Given the description of an element on the screen output the (x, y) to click on. 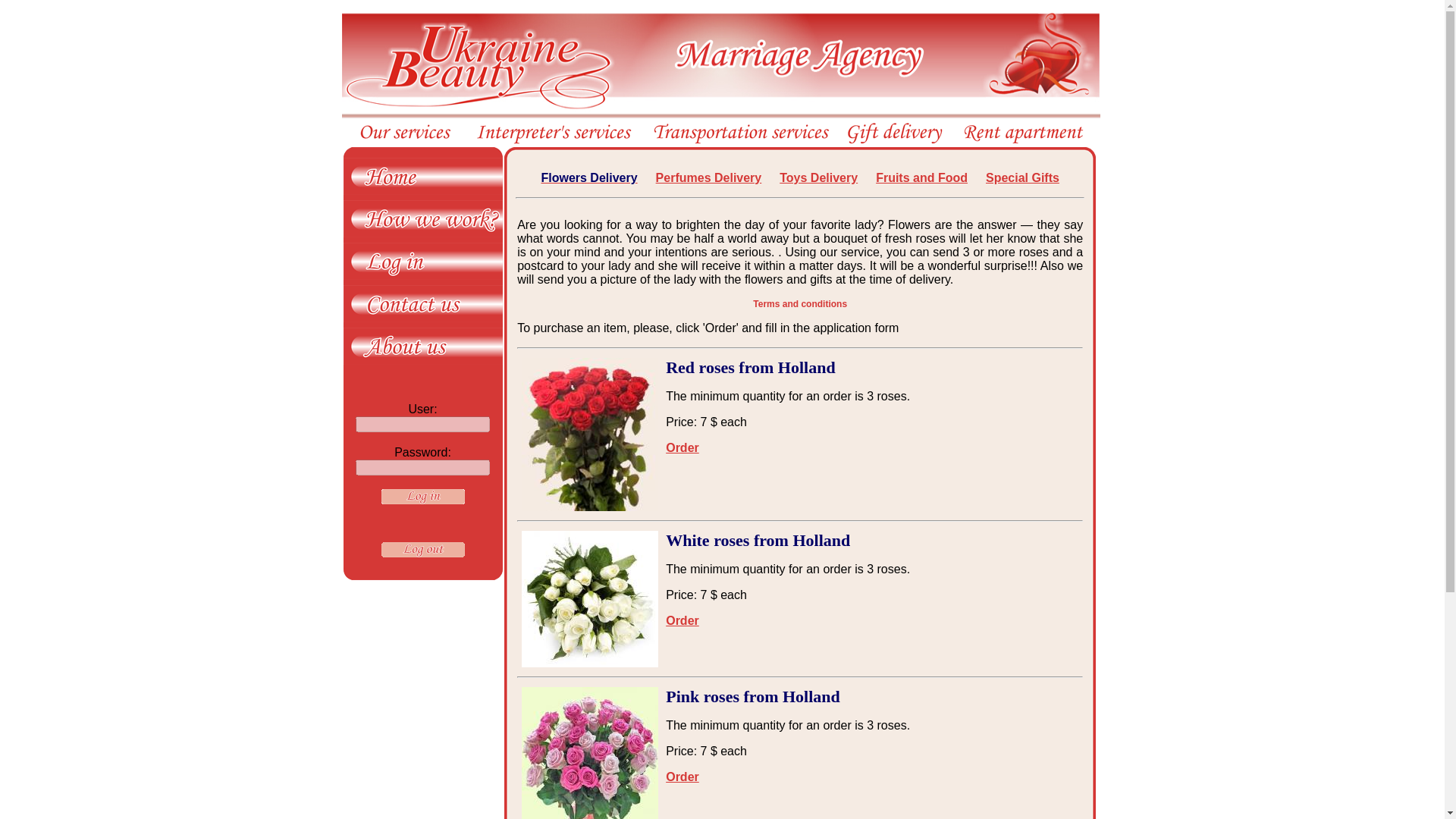
Fruits and Food (922, 177)
Flowers Delivery (588, 177)
Order (681, 447)
Order (681, 776)
Perfumes Delivery (708, 177)
Toys Delivery (817, 177)
Order (681, 620)
Special Gifts (1022, 177)
Terms and conditions (799, 303)
Submit (422, 496)
